Given the description of an element on the screen output the (x, y) to click on. 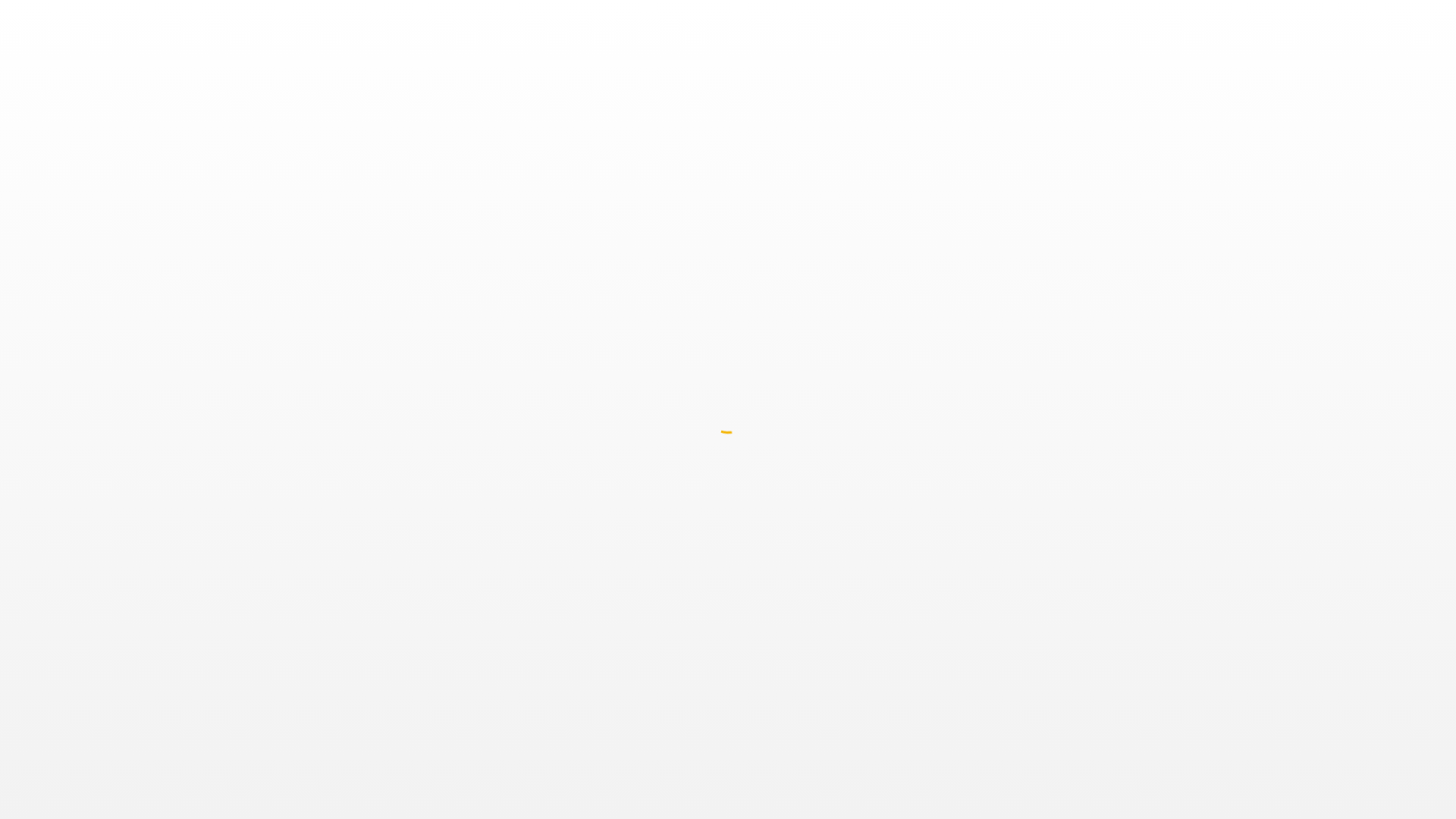
Cours virtuels Element type: text (339, 479)
Garantie examen Element type: text (995, 461)
Qui sommes nous? Element type: text (567, 423)
Inscription Element type: text (1402, 21)
FORMATIONS Element type: text (403, 366)
Foire aux questions Element type: text (785, 423)
Droit de changement de lieu Element type: text (1020, 517)
Packs Allround Element type: text (342, 517)
S'inscrire Element type: text (327, 593)
Plannings Element type: text (796, 21)
Informations juridiques Element type: text (793, 517)
Profil entreprise Element type: text (344, 574)
appDownloadAndroid Element type: hover (370, 644)
Contactez-nous Element type: text (776, 404)
Campus Element type: text (758, 461)
Plannings Element type: text (330, 498)
Partenariats Element type: text (552, 574)
Feedback Element type: text (761, 479)
Offre entreprises Element type: text (346, 555)
appDownloadiOS Element type: hover (370, 668)
All you can study Element type: text (346, 536)
Avantages Element type: text (1042, 21)
Politique de cookies Element type: text (1001, 631)
Sessions d'informations Element type: text (795, 498)
SINGUP Element type: text (727, 247)
Disclaimer Element type: text (979, 612)
Contact Element type: text (1280, 21)
Nos professeurs Element type: text (561, 498)
Garantie Switch Element type: text (992, 536)
Mission & vision Element type: text (560, 442)
INFORMATIONS JURIDIQUES Element type: text (1051, 366)
Foire aux questions Element type: text (1001, 423)
Droit d'annulation Element type: text (996, 555)
SERVICE CLIENTS Element type: text (835, 366)
News & articles Element type: text (559, 555)
Formations Element type: text (866, 21)
Offres d'emploi internes Element type: text (578, 536)
Offres d'emploi professeurs Element type: text (587, 517)
Module gratuit Element type: text (955, 21)
Droit de report Element type: text (988, 498)
Garantie des prix les plus bas Element type: text (1023, 593)
Reconnaissances Element type: text (996, 404)
appDownloadiOS Element type: hover (363, 668)
Cours en groupe Element type: text (345, 461)
